Given the description of an element on the screen output the (x, y) to click on. 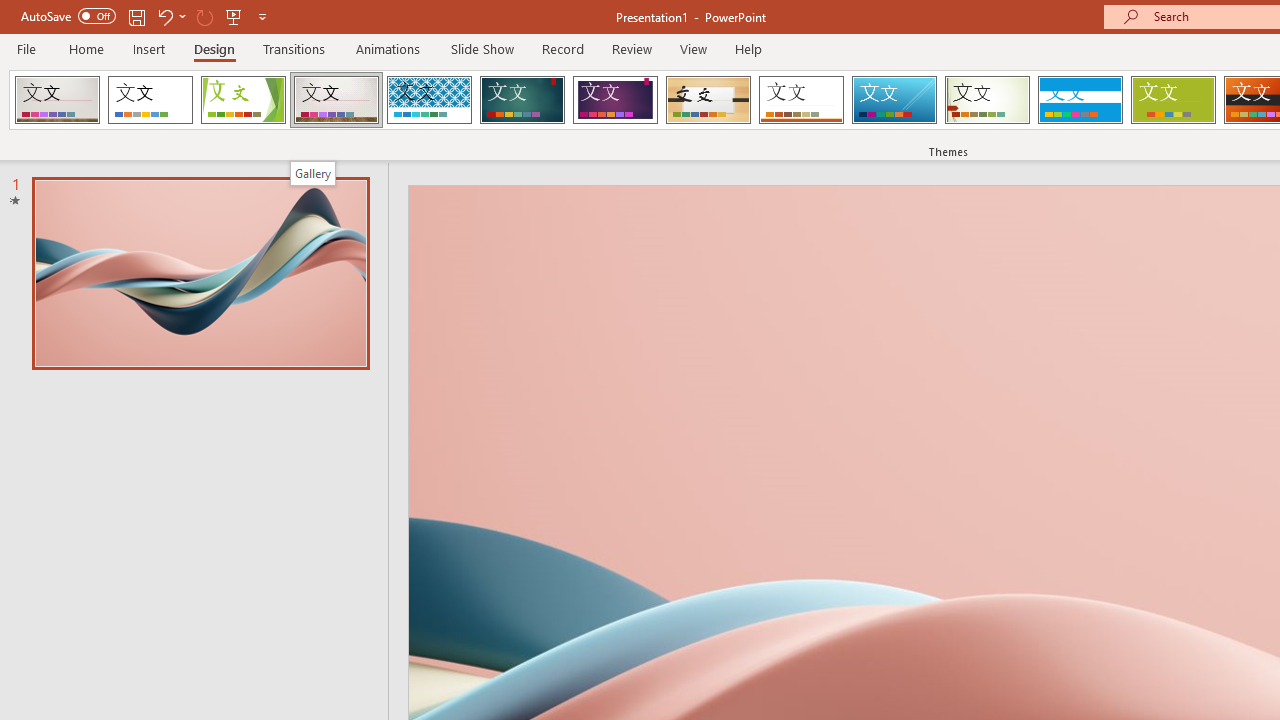
Integral (429, 100)
Banded (1080, 100)
Wisp (987, 100)
Office Theme (150, 100)
Basis (1172, 100)
Gallery (312, 173)
Retrospect (801, 100)
Facet (243, 100)
